Given the description of an element on the screen output the (x, y) to click on. 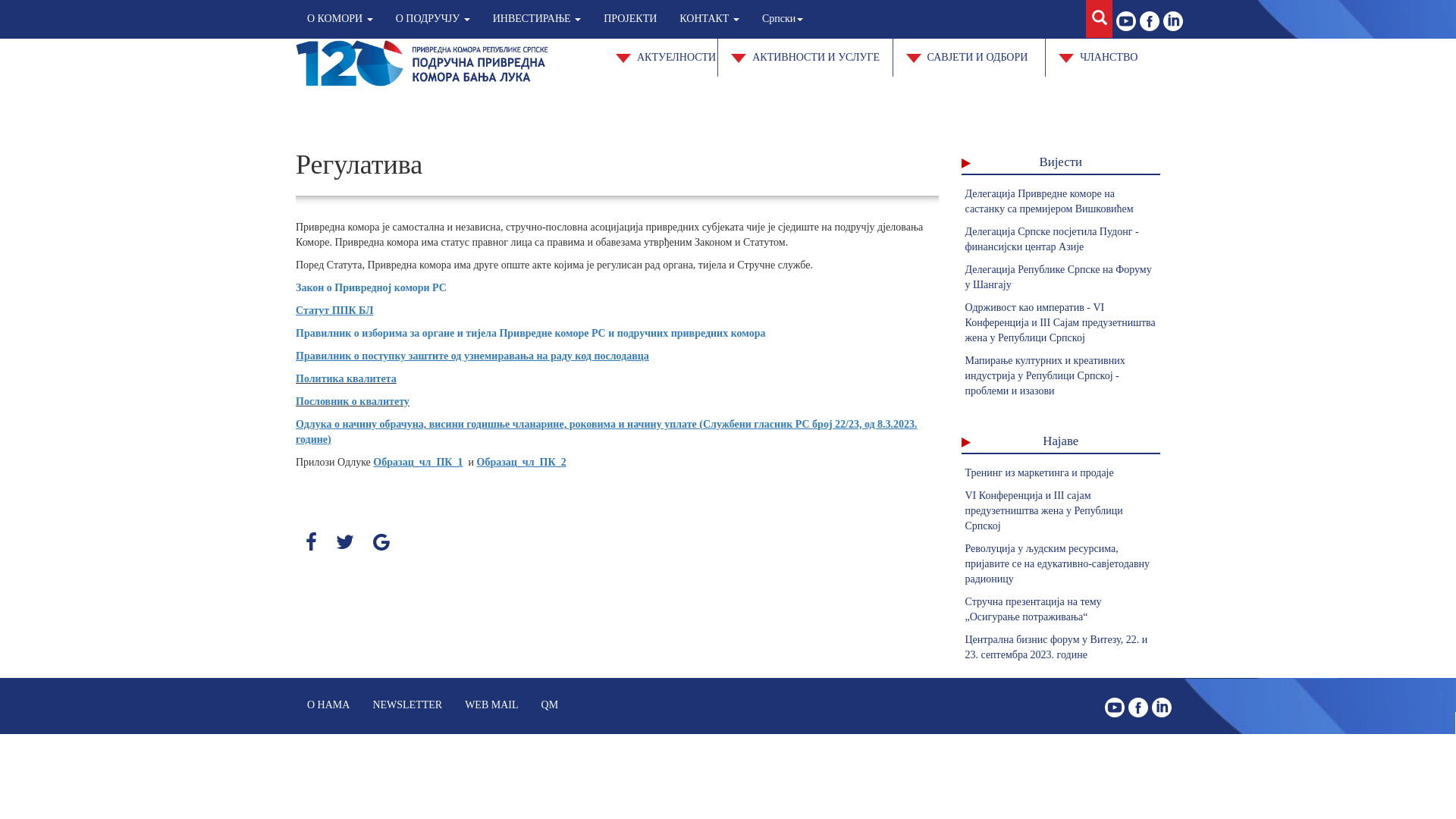
WEB MAIL Element type: text (491, 705)
Share Google Element type: hover (381, 542)
Share on Facebook Element type: hover (310, 542)
QM Element type: text (550, 705)
NEWSLETTER Element type: text (406, 705)
Tweet Element type: hover (345, 542)
